Given the description of an element on the screen output the (x, y) to click on. 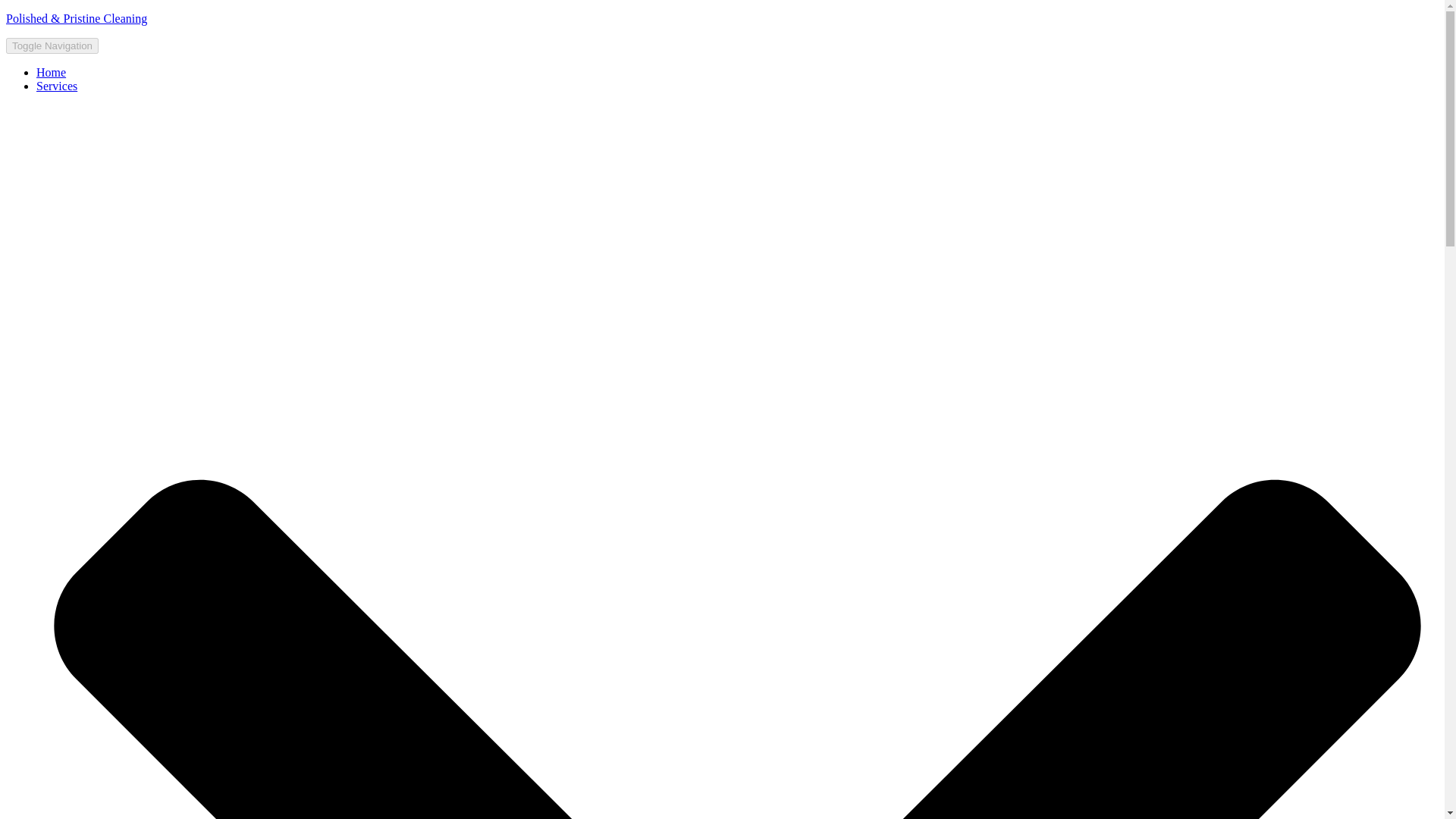
Home (50, 72)
Toggle Navigation (52, 45)
Home (50, 72)
